Given the description of an element on the screen output the (x, y) to click on. 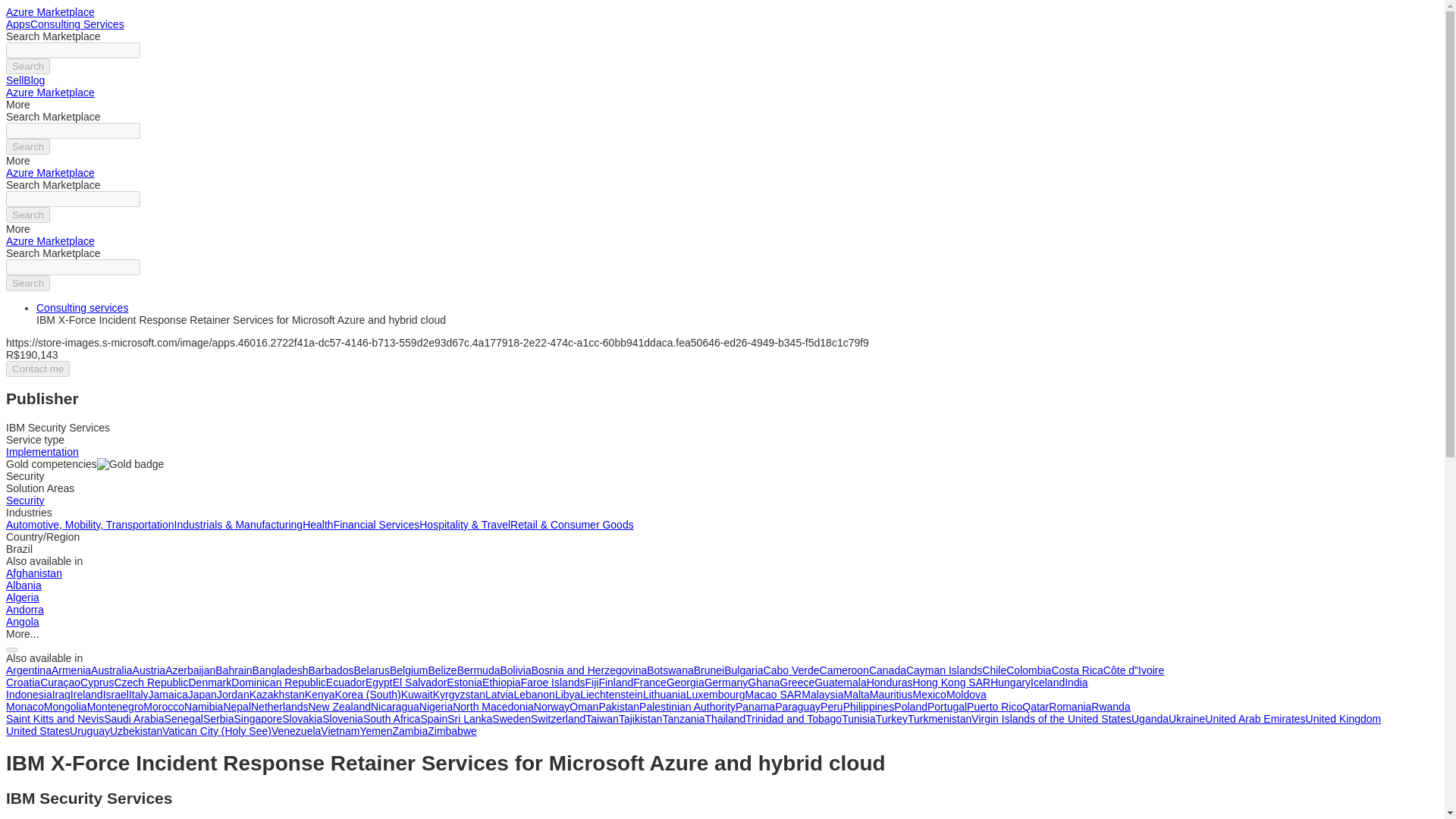
Angola (22, 621)
Consulting services (82, 307)
Azure Marketplace (49, 241)
Contact me (37, 368)
Financial Services (376, 524)
Consulting Services (76, 24)
Blog (34, 80)
Apps (17, 24)
Health (317, 524)
Armenia (70, 670)
Australia (111, 670)
Implementation (41, 451)
Austria (148, 670)
Azure Marketplace (49, 92)
Security (25, 500)
